Given the description of an element on the screen output the (x, y) to click on. 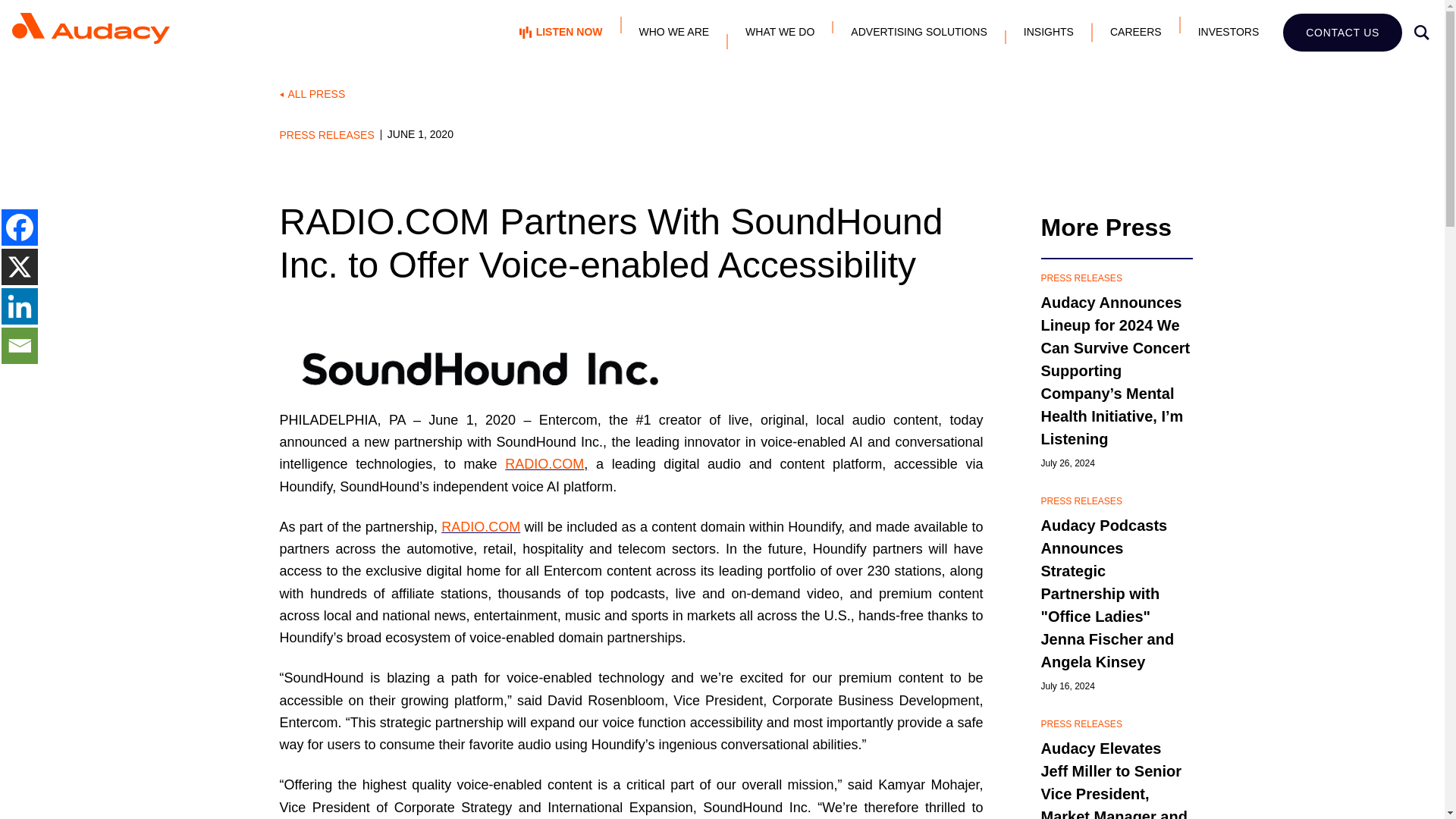
WHO WE ARE (674, 32)
INVESTORS (1228, 32)
WHAT WE DO (779, 32)
LISTEN NOW (560, 32)
PRESS RELEASES (329, 133)
RADIO.COM (544, 463)
ALL PRESS (721, 94)
X (19, 266)
Linkedin (19, 306)
Email (19, 345)
CONTACT US (1342, 32)
CAREERS (1135, 32)
RADIO.COM (480, 526)
Facebook (19, 227)
INSIGHTS (1049, 32)
